Given the description of an element on the screen output the (x, y) to click on. 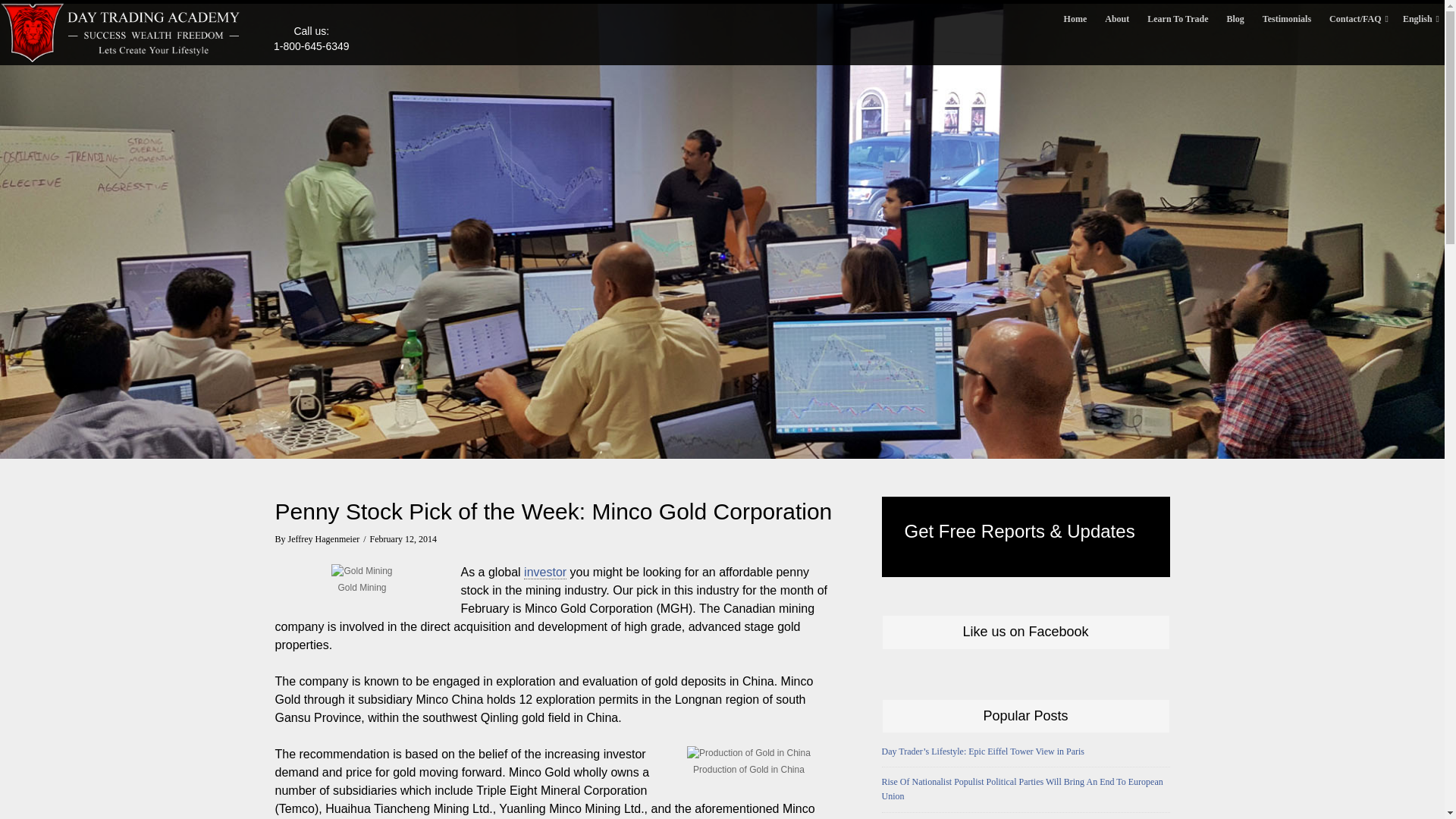
Minco Gold Corporation (545, 572)
Blog (1234, 18)
About (1117, 18)
Home (1075, 18)
Testimonials (1286, 18)
investor (545, 572)
Learn To Trade (1177, 18)
